Given the description of an element on the screen output the (x, y) to click on. 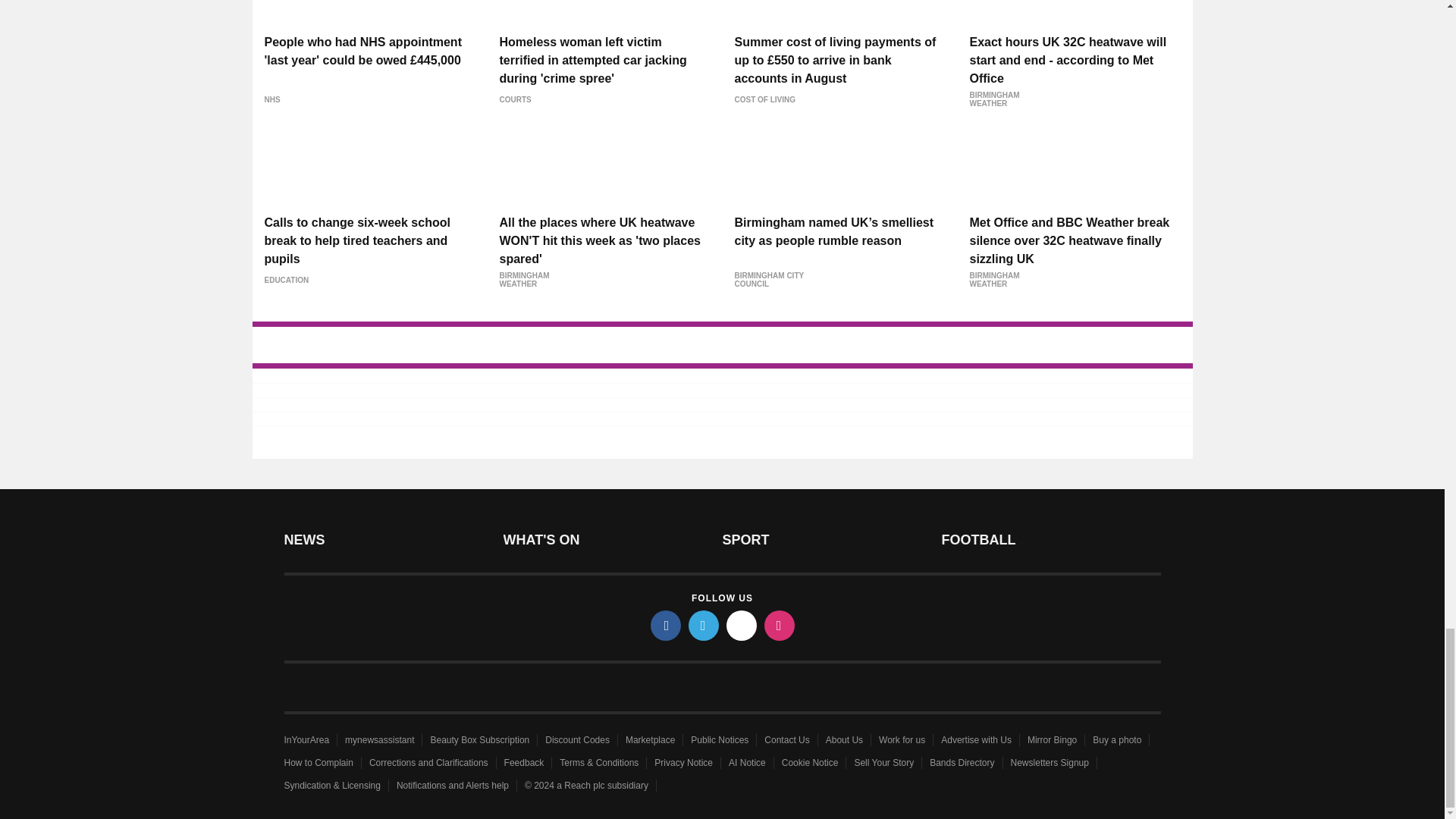
tiktok (741, 625)
instagram (779, 625)
twitter (703, 625)
facebook (665, 625)
